Given the description of an element on the screen output the (x, y) to click on. 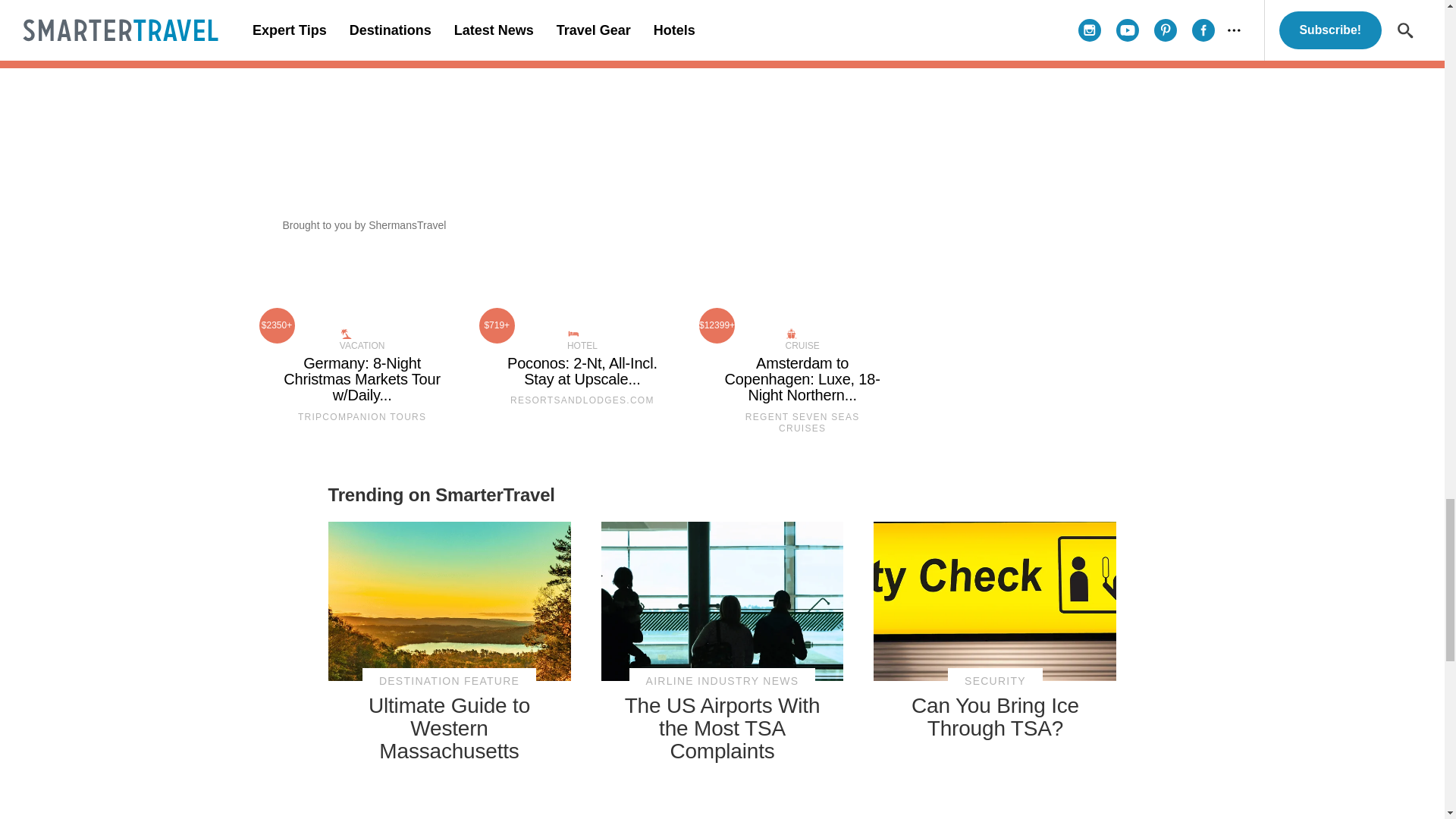
View all posts in Security (994, 681)
View all posts in Destination Feature (448, 681)
View all posts in Airline Industry News (721, 681)
